Given the description of an element on the screen output the (x, y) to click on. 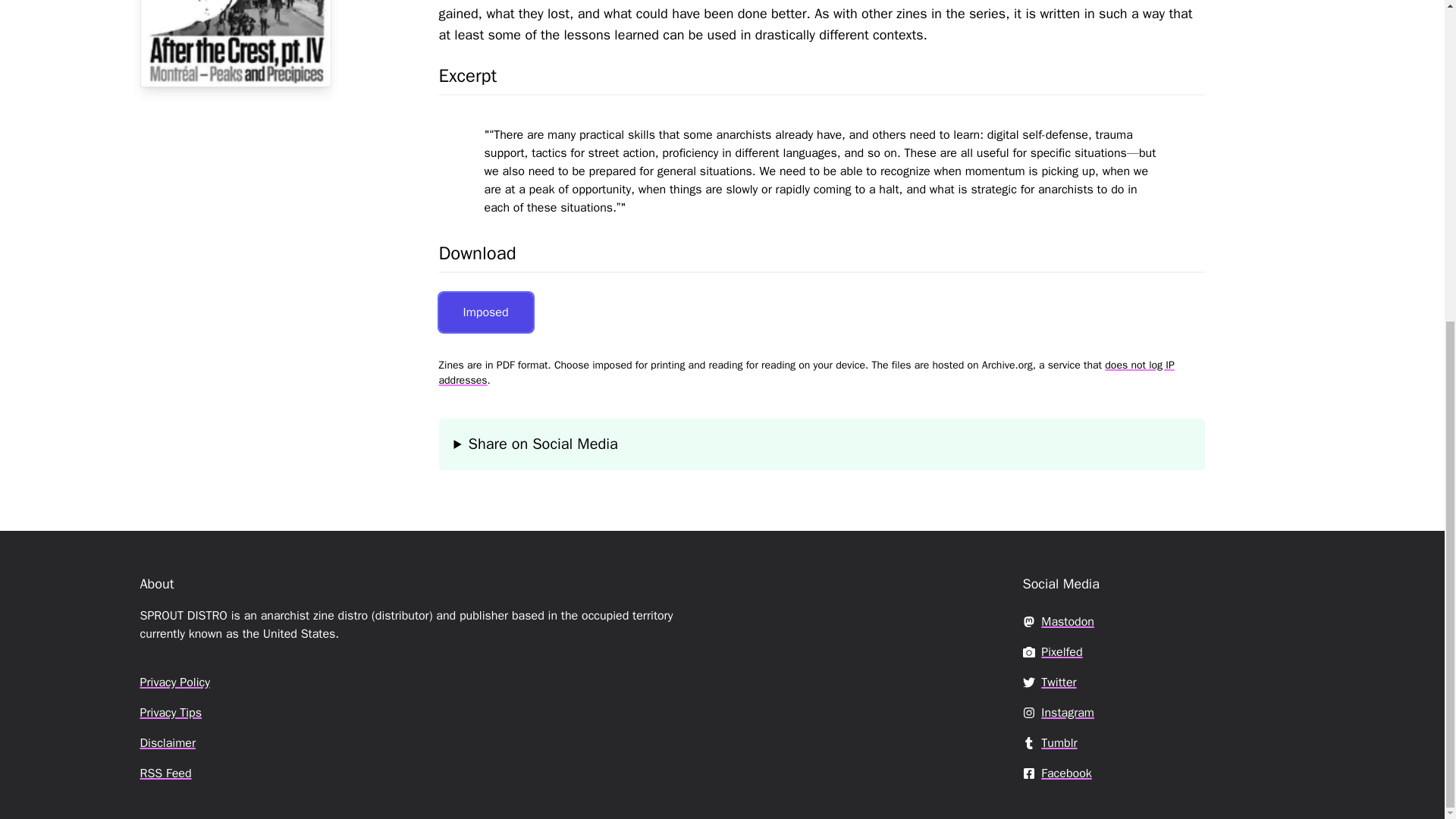
Facebook (1056, 773)
Tumblr (1049, 743)
Privacy Tips (170, 712)
Privacy Policy (174, 682)
Instagram (1057, 712)
Imposed (485, 312)
Pixelfed (1051, 652)
does not log IP addresses (805, 372)
Disclaimer (167, 743)
Mastodon (1057, 621)
RSS Feed (164, 773)
Twitter (1048, 682)
